Given the description of an element on the screen output the (x, y) to click on. 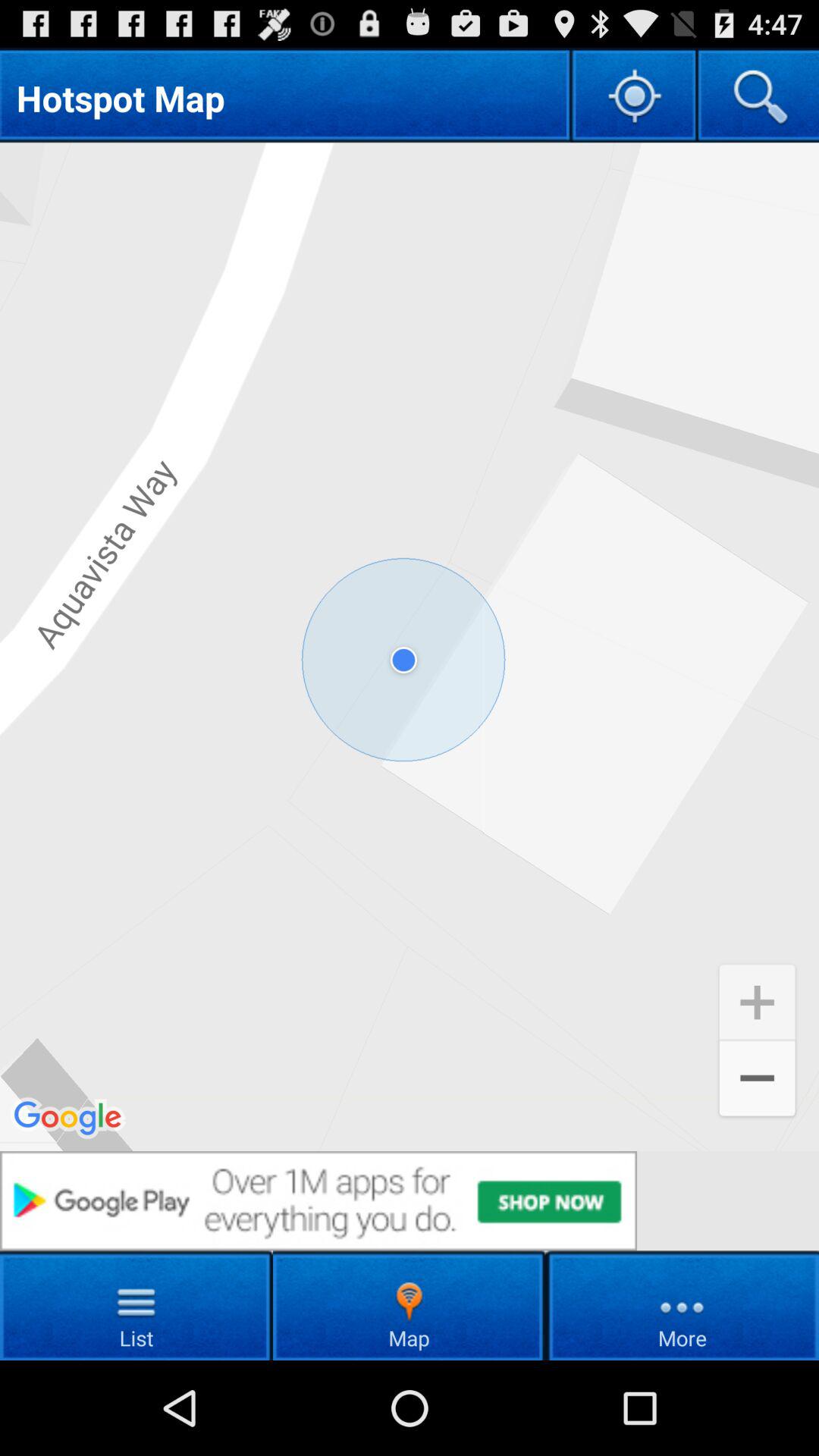
to go youtube (409, 1200)
